Given the description of an element on the screen output the (x, y) to click on. 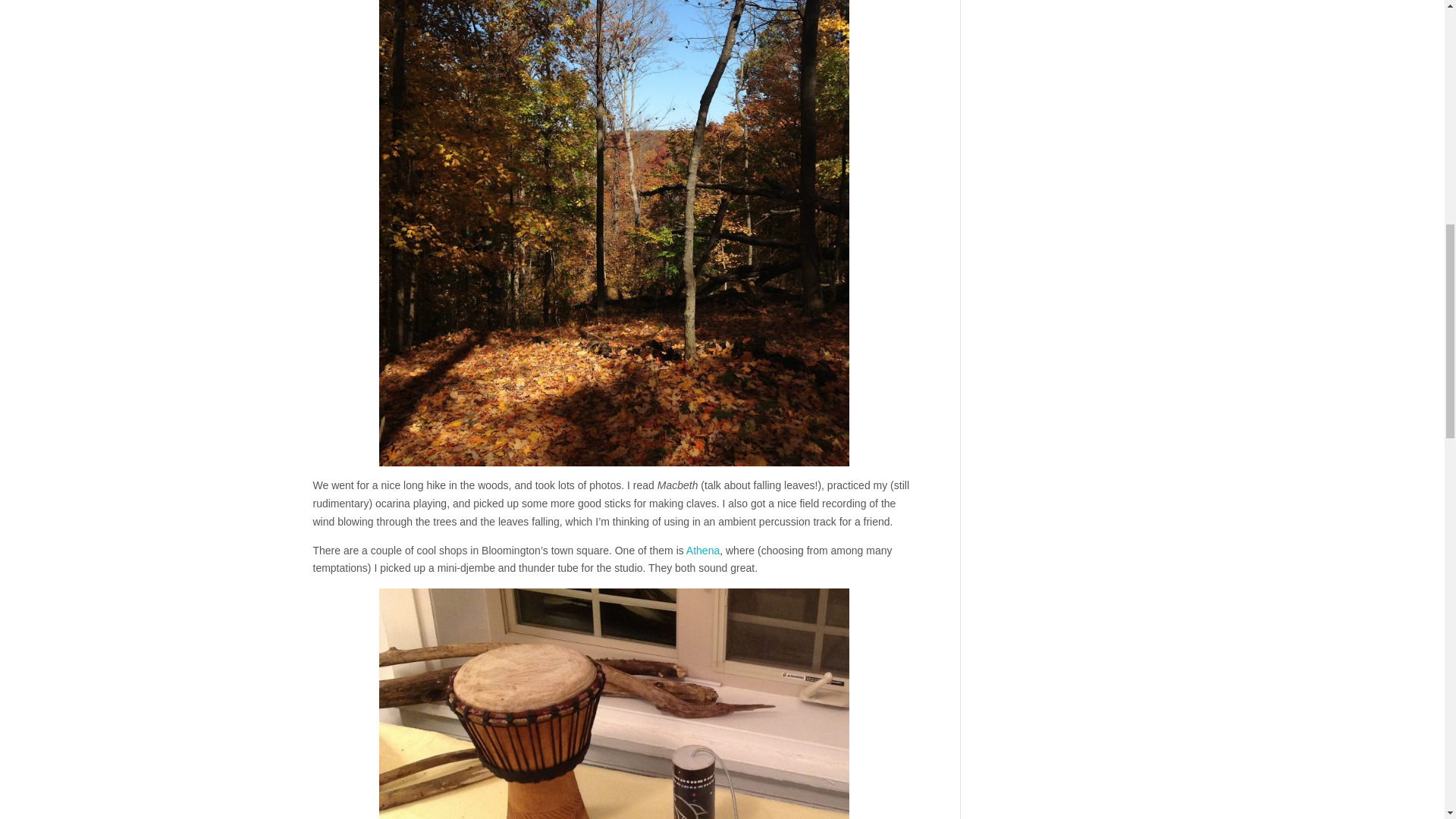
Mini Djembe and Thunder Tube (613, 703)
Athena (702, 550)
